Given the description of an element on the screen output the (x, y) to click on. 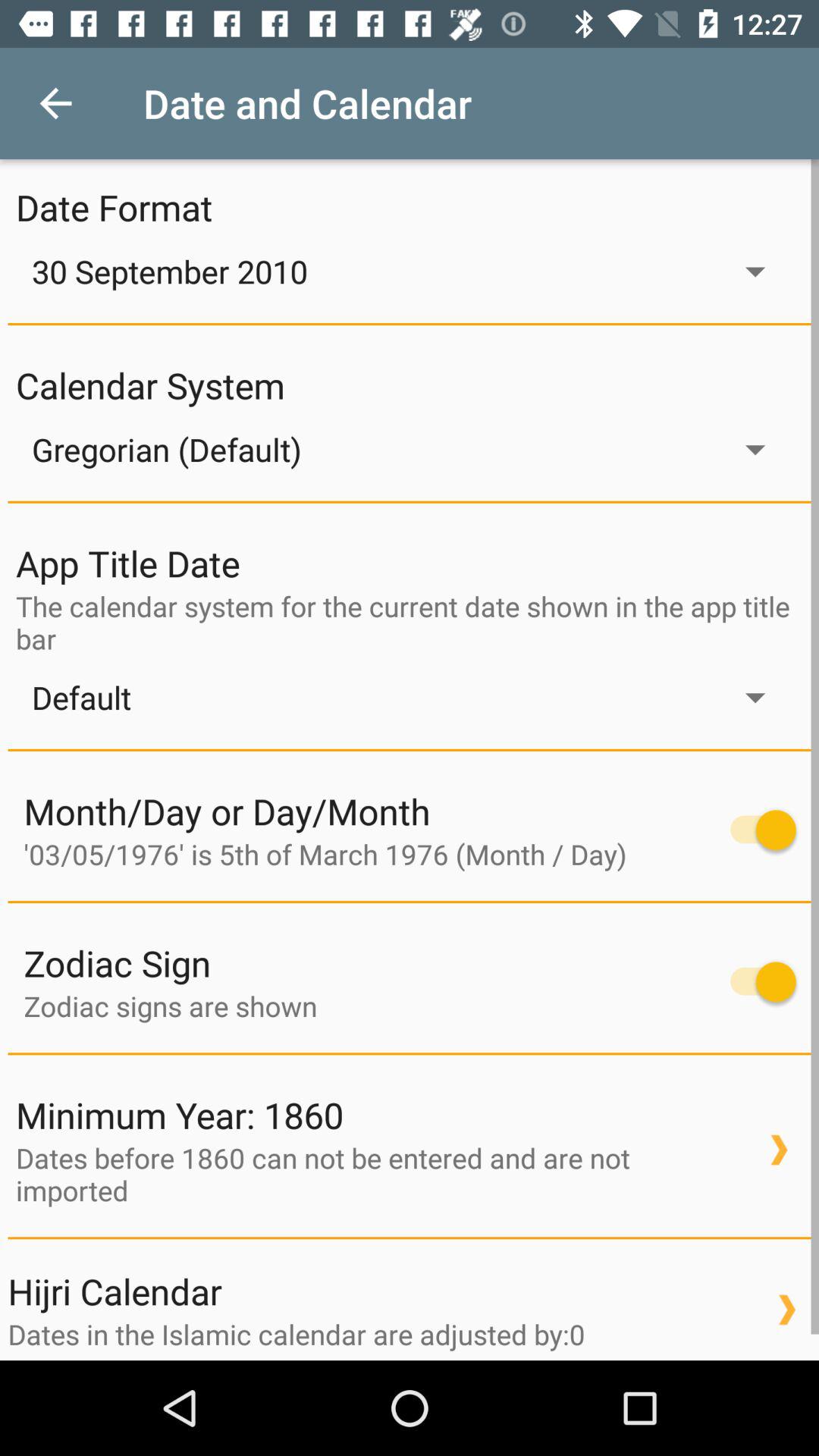
toggle zodiac sign (755, 981)
